Given the description of an element on the screen output the (x, y) to click on. 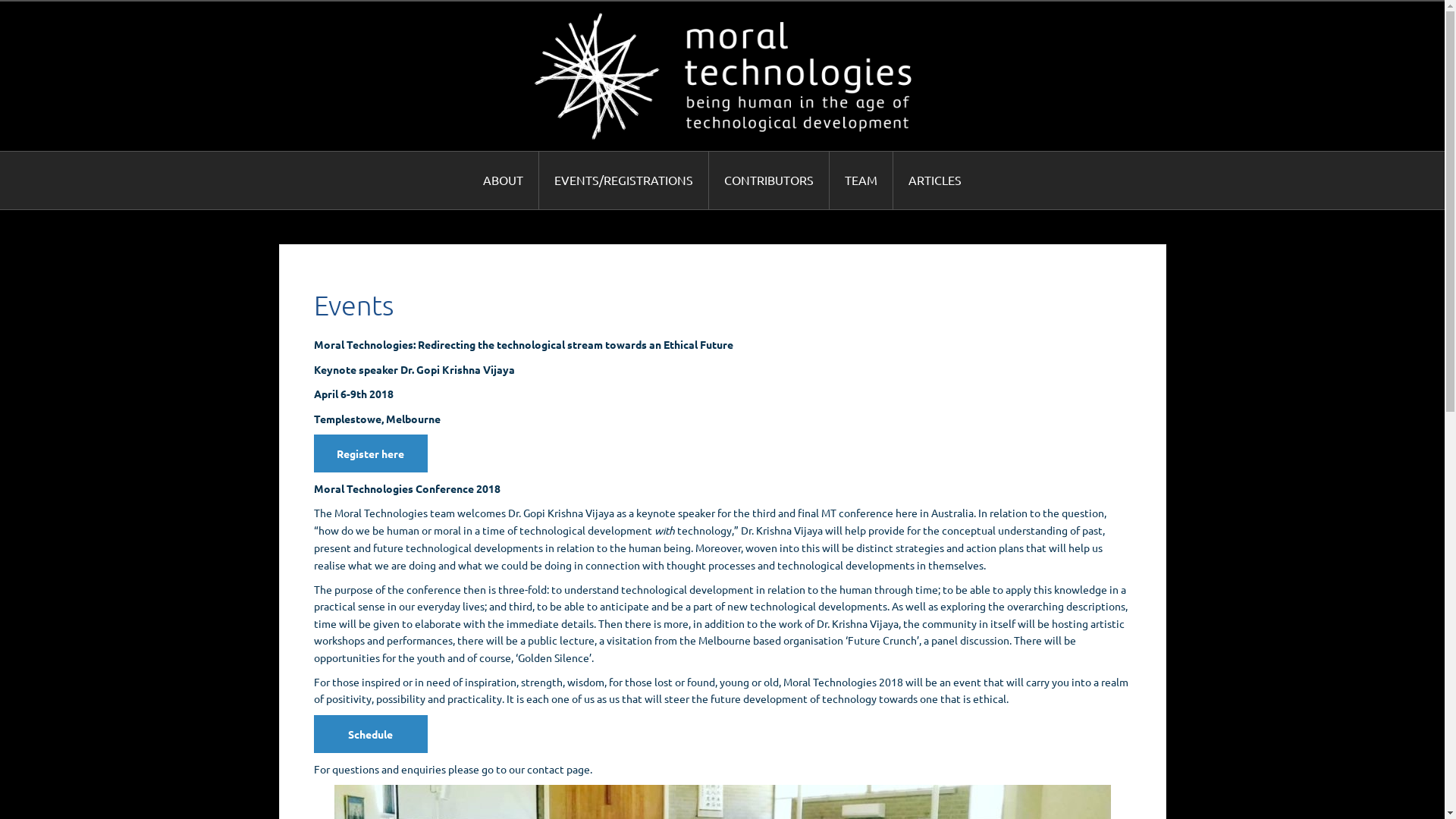
ARTICLES Element type: text (934, 180)
Register here Element type: text (370, 453)
Skip to content Element type: text (0, 0)
EVENTS/REGISTRATIONS Element type: text (624, 180)
Moral Technologies Element type: hover (722, 74)
CONTRIBUTORS Element type: text (769, 180)
TEAM Element type: text (861, 180)
ABOUT Element type: text (503, 180)
Schedule Element type: text (370, 734)
